Given the description of an element on the screen output the (x, y) to click on. 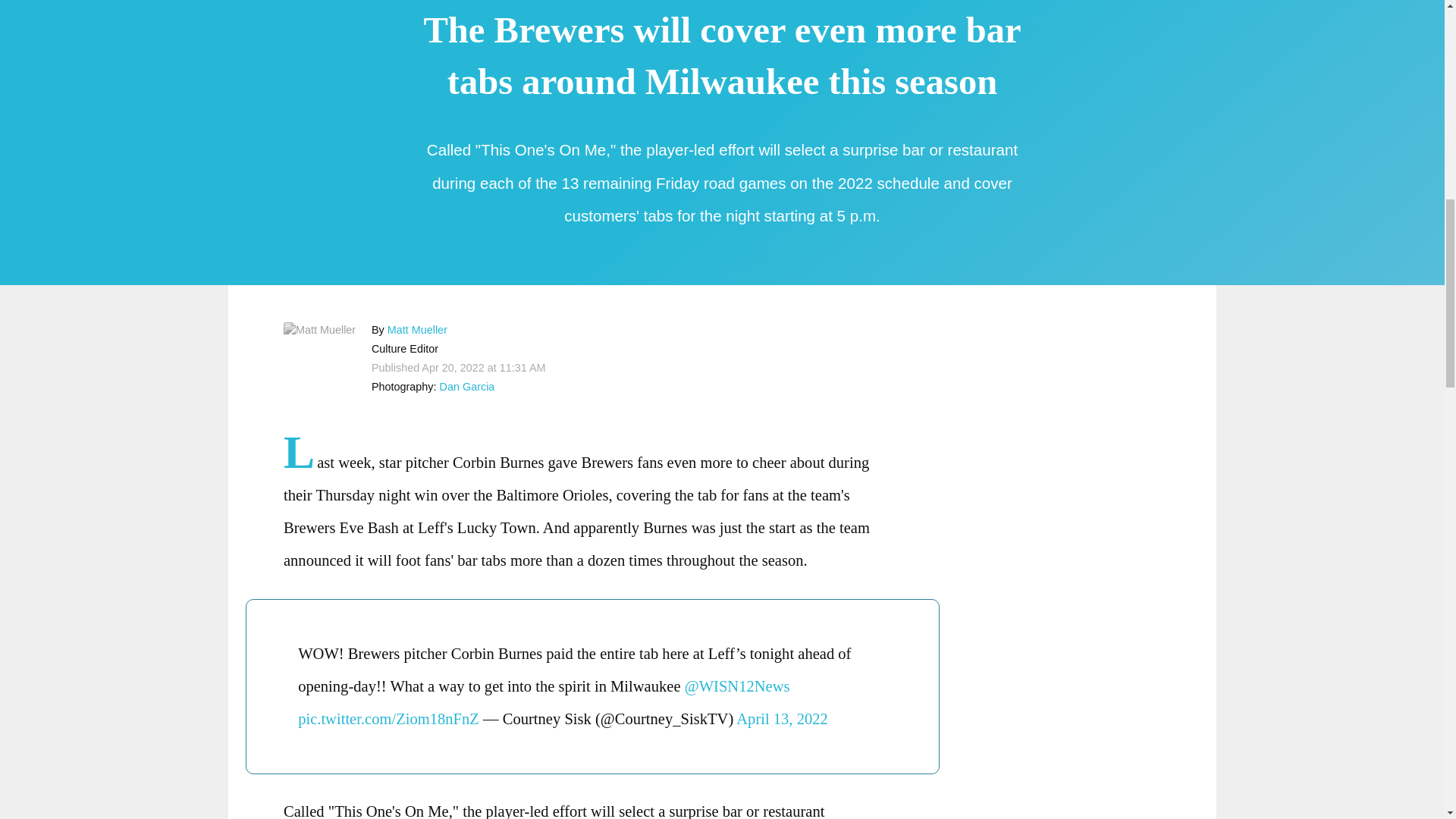
Matt Mueller (416, 329)
April 13, 2022 (782, 718)
More articles by Matt Mueller (416, 329)
Dan Garcia (467, 386)
Matt Mueller (319, 329)
